Given the description of an element on the screen output the (x, y) to click on. 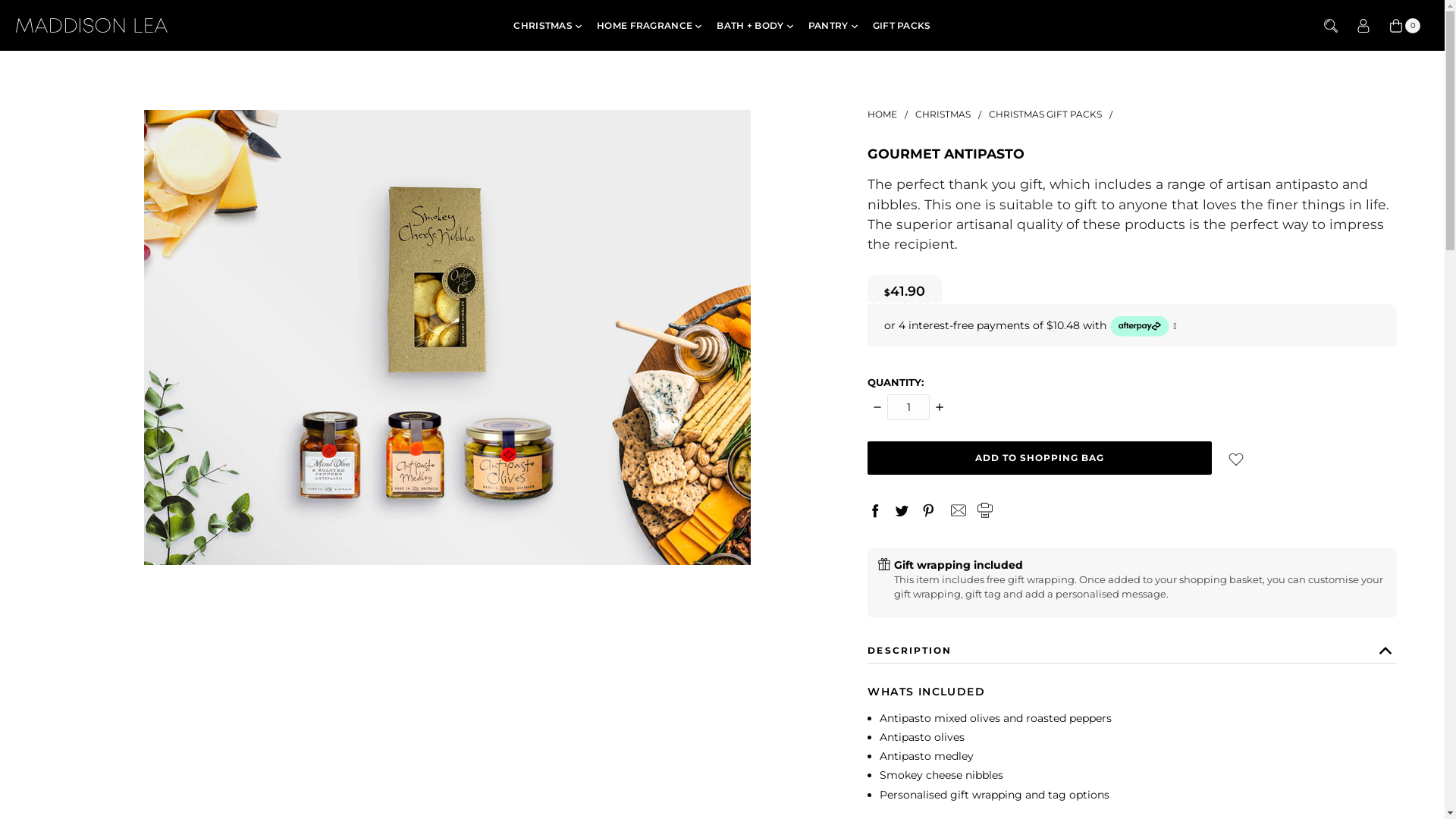
DESCRIPTION Element type: text (1131, 641)
CHRISTMAS Element type: text (942, 113)
HOME Element type: text (882, 113)
Maddison Lea Element type: hover (91, 25)
PANTRY Element type: text (832, 25)
INCREASE QUANTITY: Element type: text (939, 406)
CHRISTMAS Element type: text (547, 25)
DECREASE QUANTITY: Element type: text (877, 406)
0 Element type: text (1403, 25)
Add to shopping bag Element type: text (1039, 457)
BATH + BODY Element type: text (754, 25)
GIFT PACKS Element type: text (901, 25)
HOME FRAGRANCE Element type: text (649, 25)
CHRISTMAS GIFT PACKS Element type: text (1044, 113)
